Given the description of an element on the screen output the (x, y) to click on. 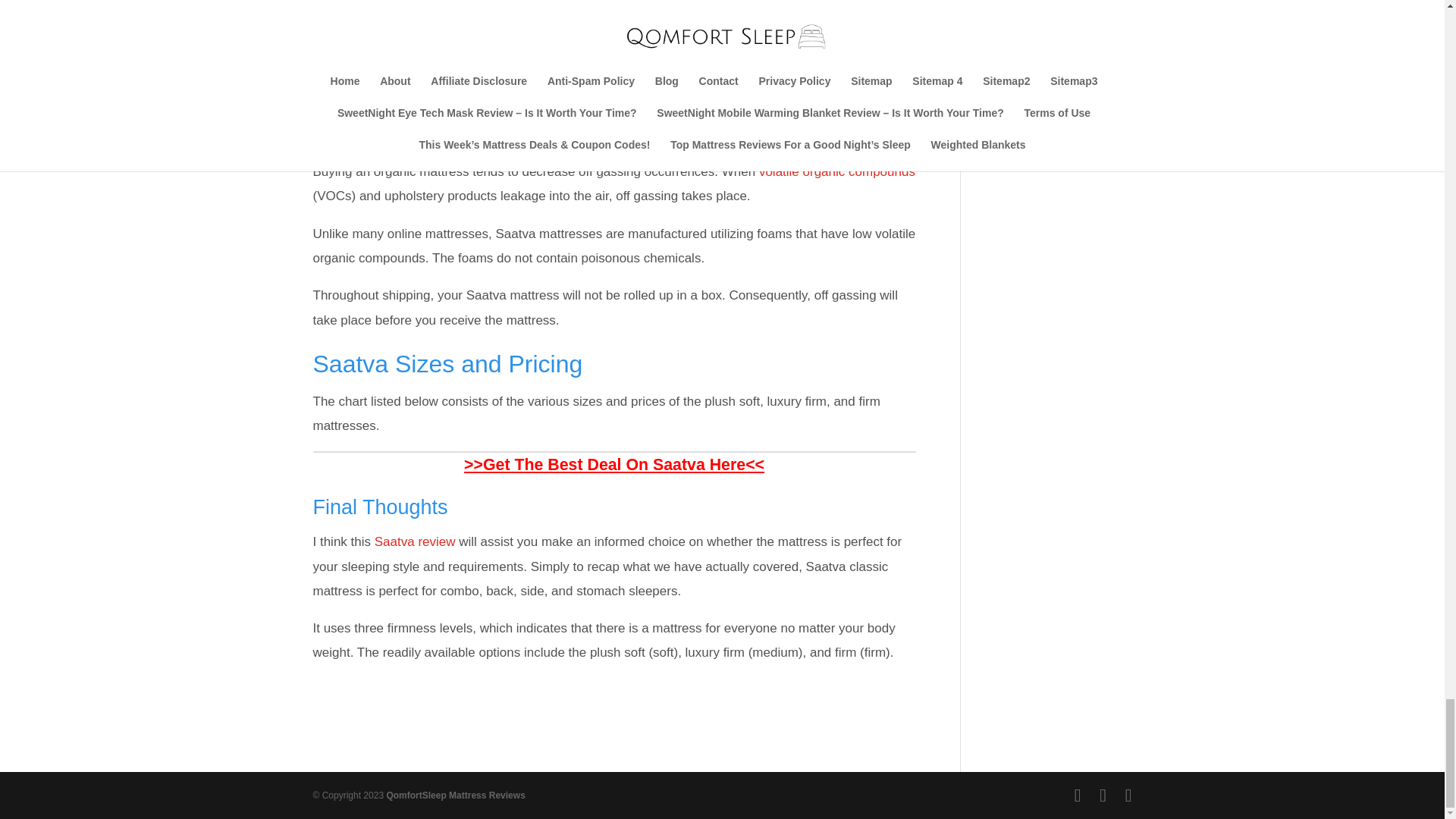
volatile organic compounds (836, 171)
Saatva review (414, 541)
